Given the description of an element on the screen output the (x, y) to click on. 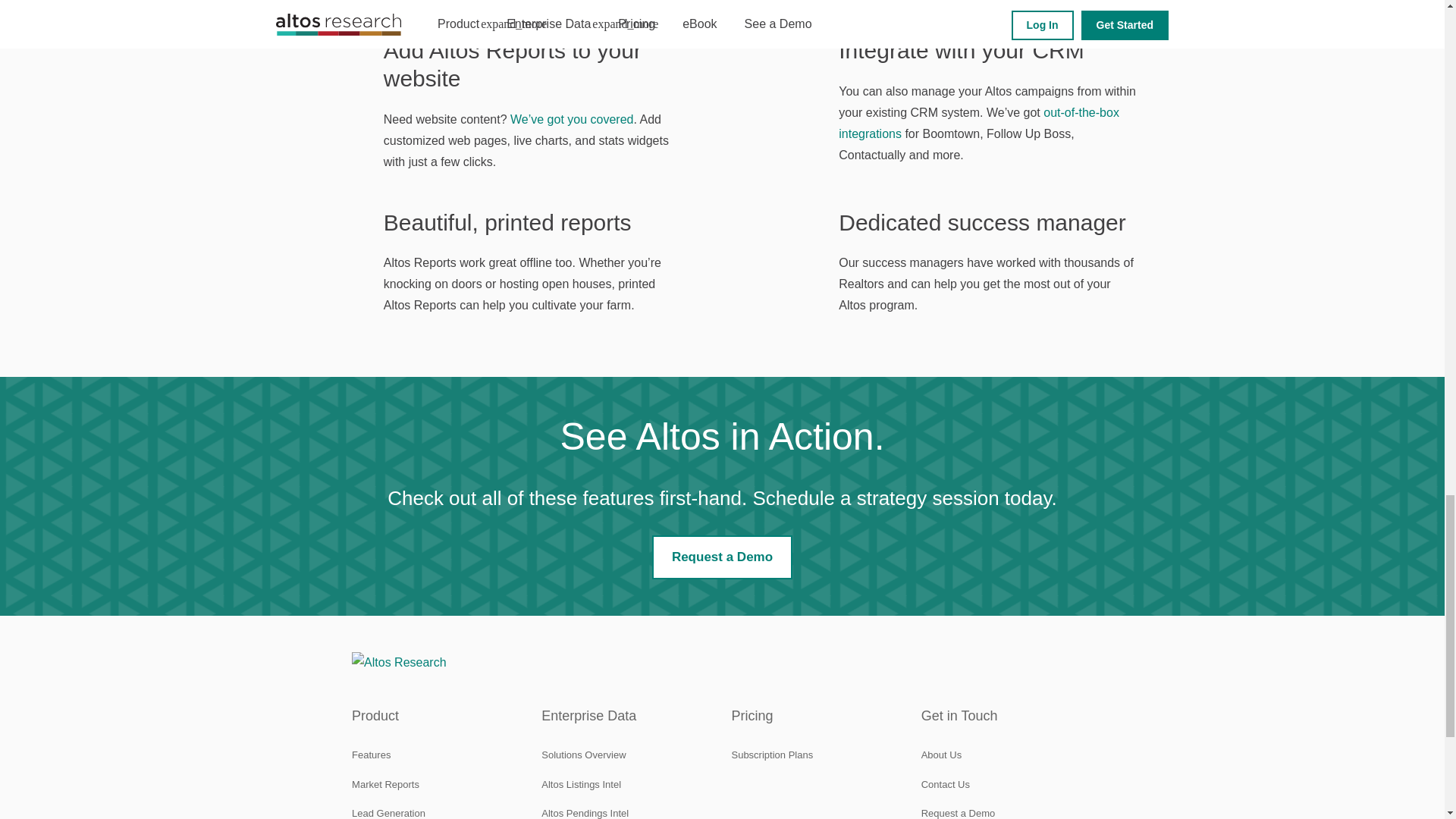
Features (371, 754)
Market Reports (385, 784)
Altos Listings Intel (581, 784)
Request a Demo (722, 556)
Altos Pendings Intel (584, 813)
Lead Generation (388, 813)
